Given the description of an element on the screen output the (x, y) to click on. 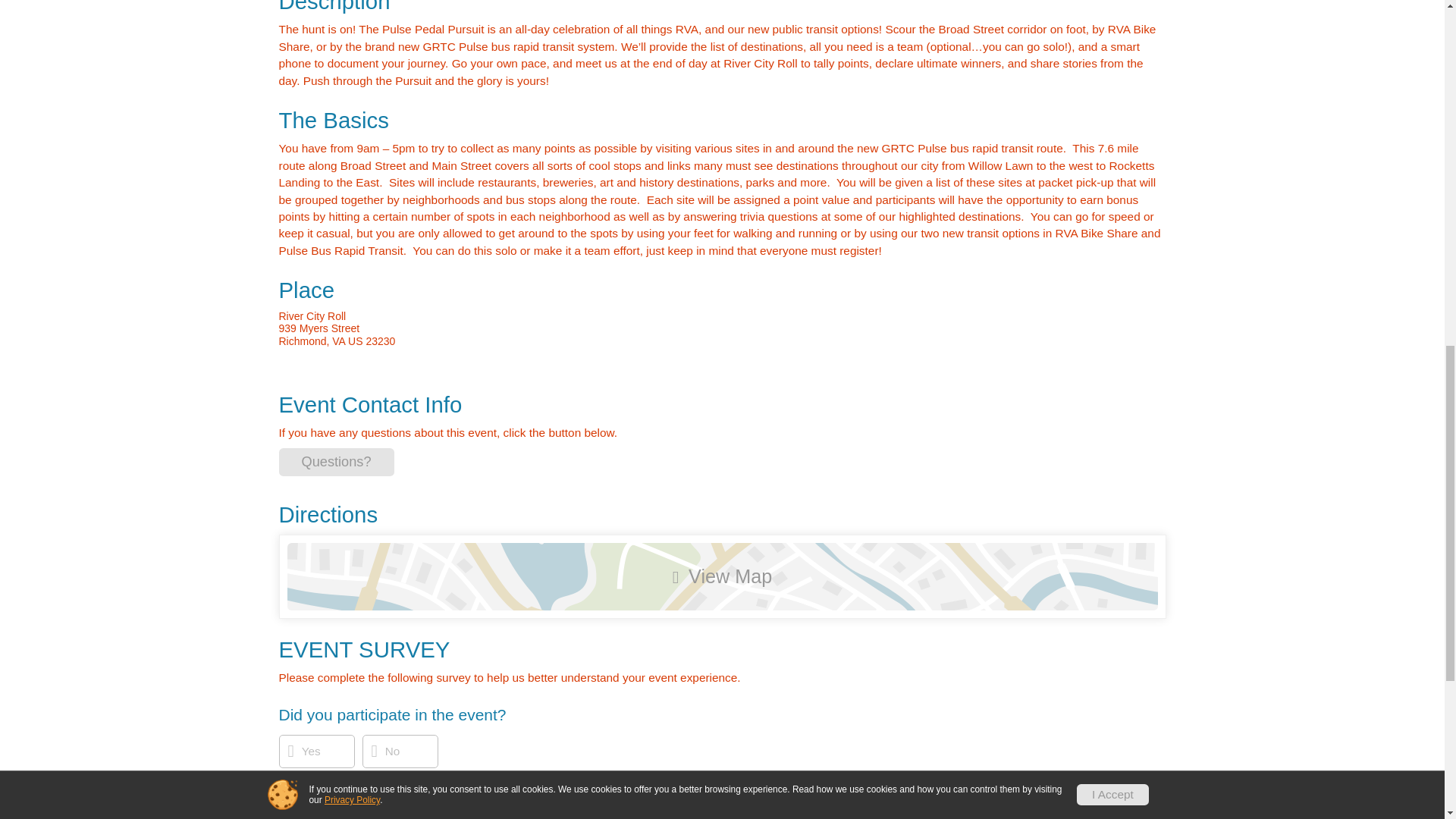
View Map (721, 576)
Questions? (336, 461)
